Given the description of an element on the screen output the (x, y) to click on. 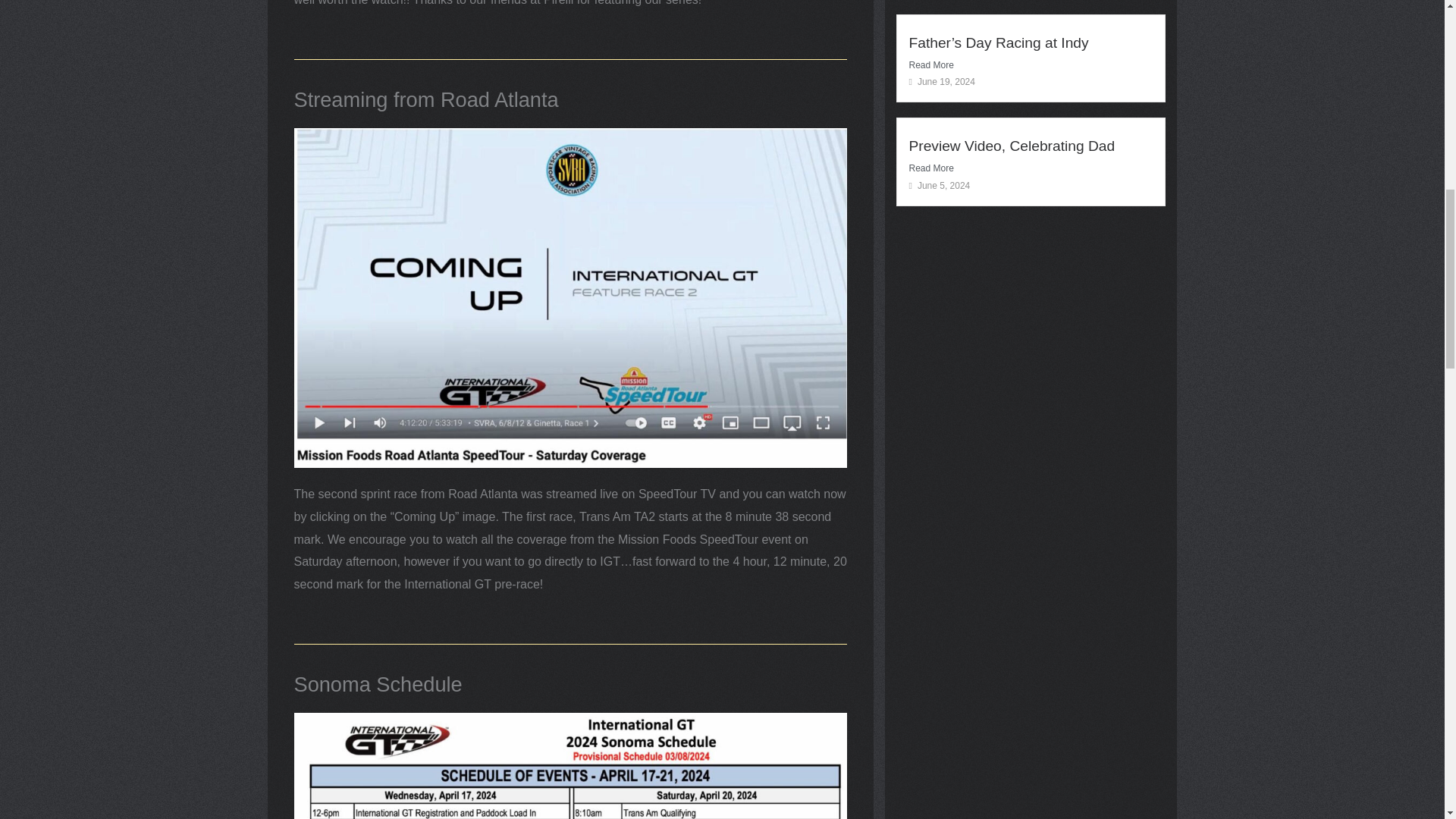
Preview Video, Celebrating Dad (1011, 145)
